Given the description of an element on the screen output the (x, y) to click on. 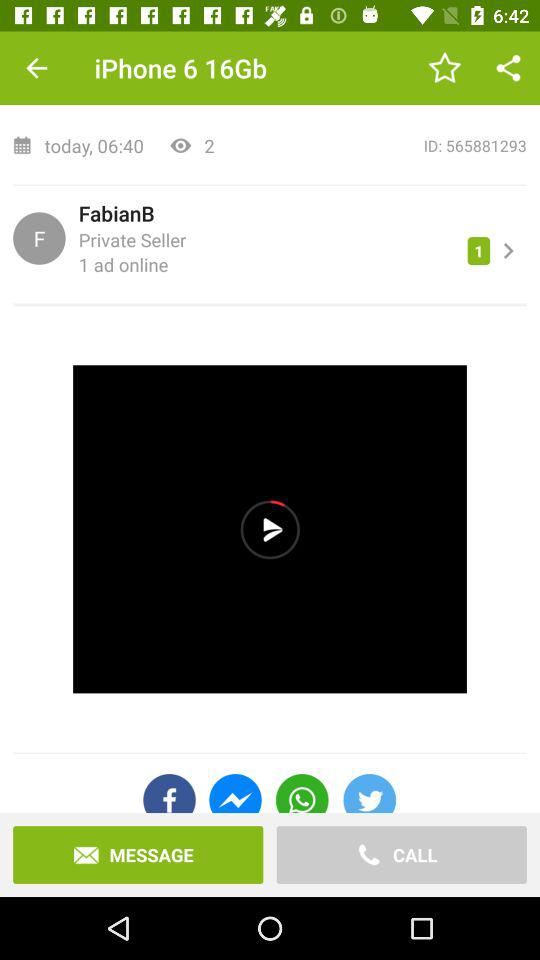
a arrow that points to the right and is used for playing a video (269, 529)
